Given the description of an element on the screen output the (x, y) to click on. 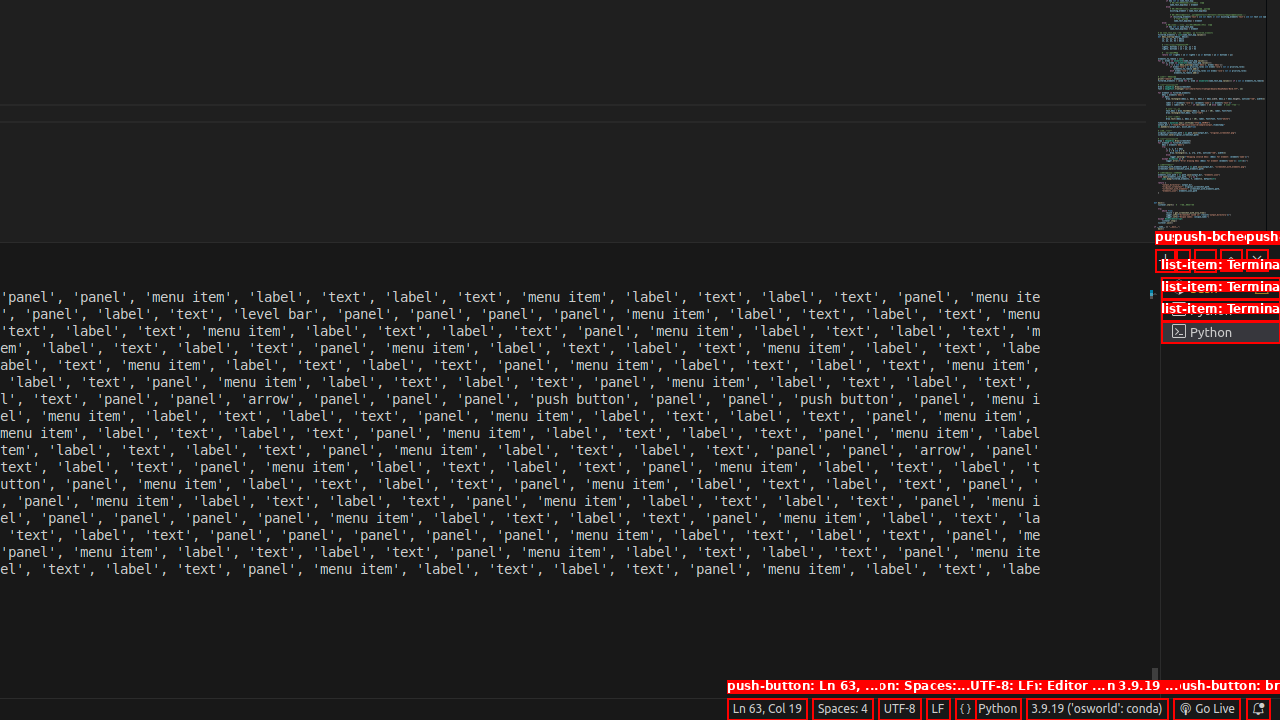
broadcast Go Live, Click to run live server Element type: push-button (1206, 709)
Spaces: 4 Element type: push-button (842, 709)
Views and More Actions... Element type: push-button (1205, 260)
Terminal 5 Python Element type: list-item (1220, 332)
Python Element type: push-button (998, 709)
